Given the description of an element on the screen output the (x, y) to click on. 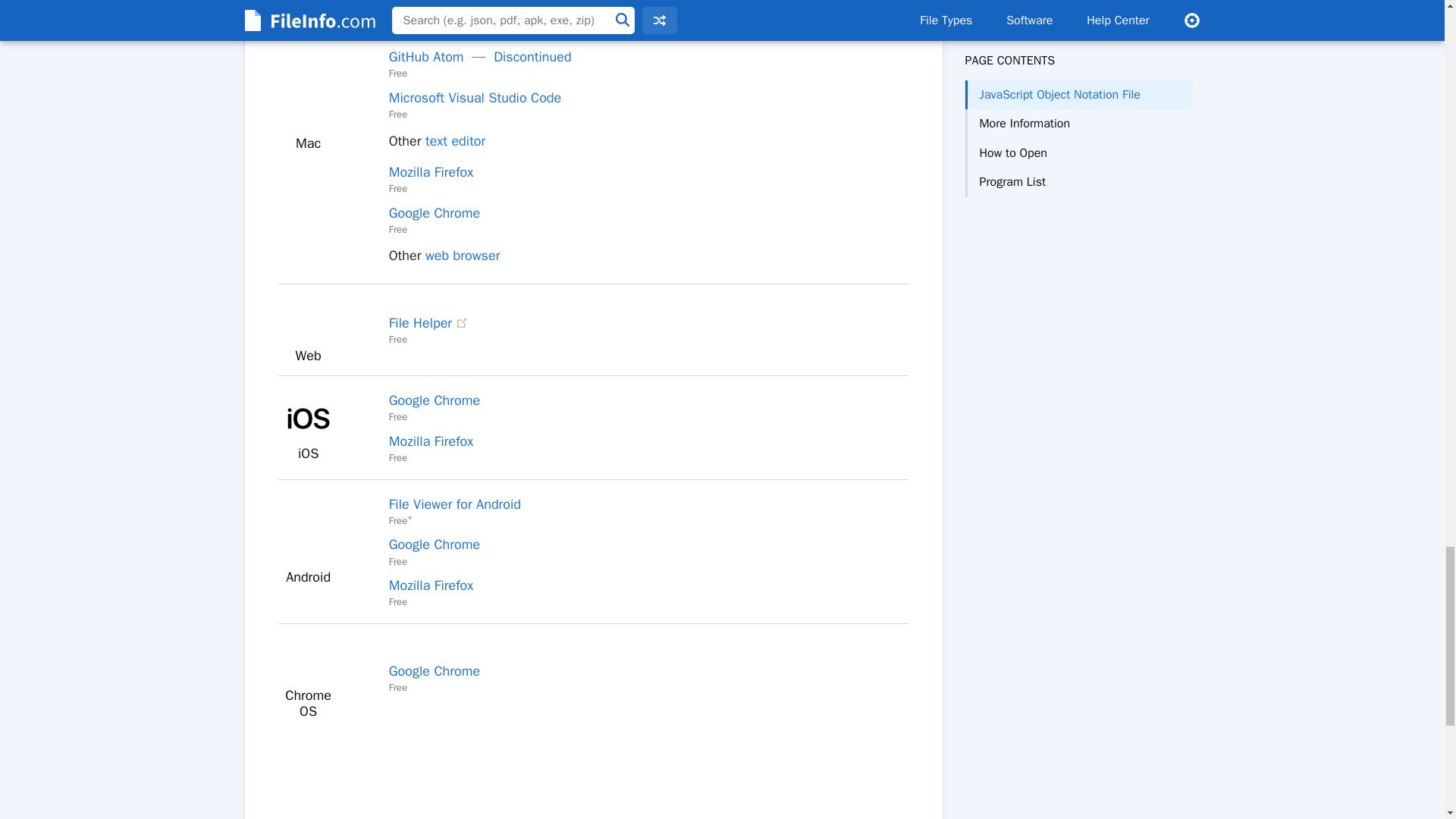
3rd party ad content (592, 768)
